Given the description of an element on the screen output the (x, y) to click on. 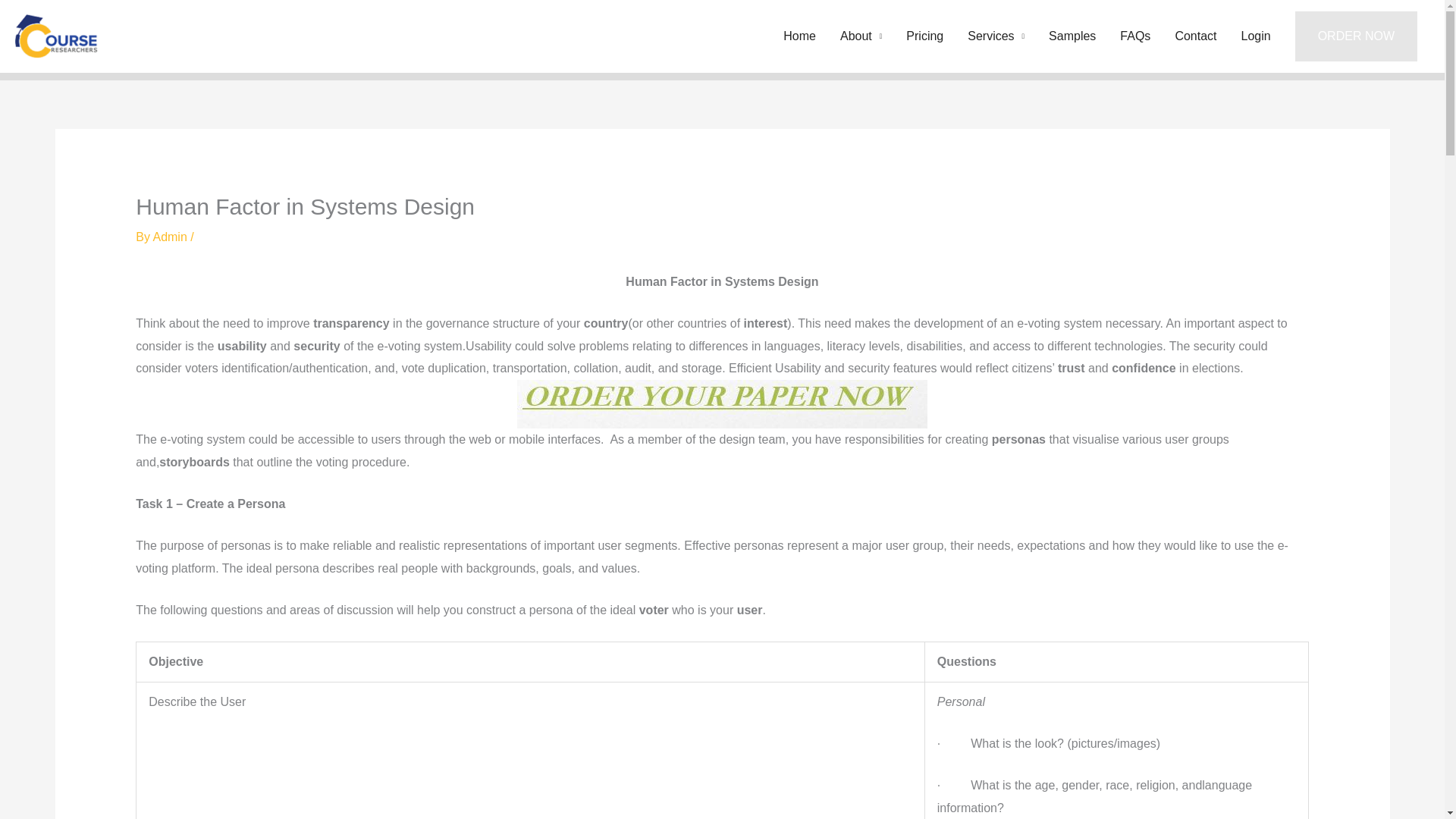
ORDER NOW (1355, 36)
Pricing (924, 36)
About (860, 36)
Admin (171, 236)
Samples (1072, 36)
Contact (1194, 36)
Login (1255, 36)
View all posts by Admin (171, 236)
FAQs (1134, 36)
Services (995, 36)
Home (799, 36)
